Given the description of an element on the screen output the (x, y) to click on. 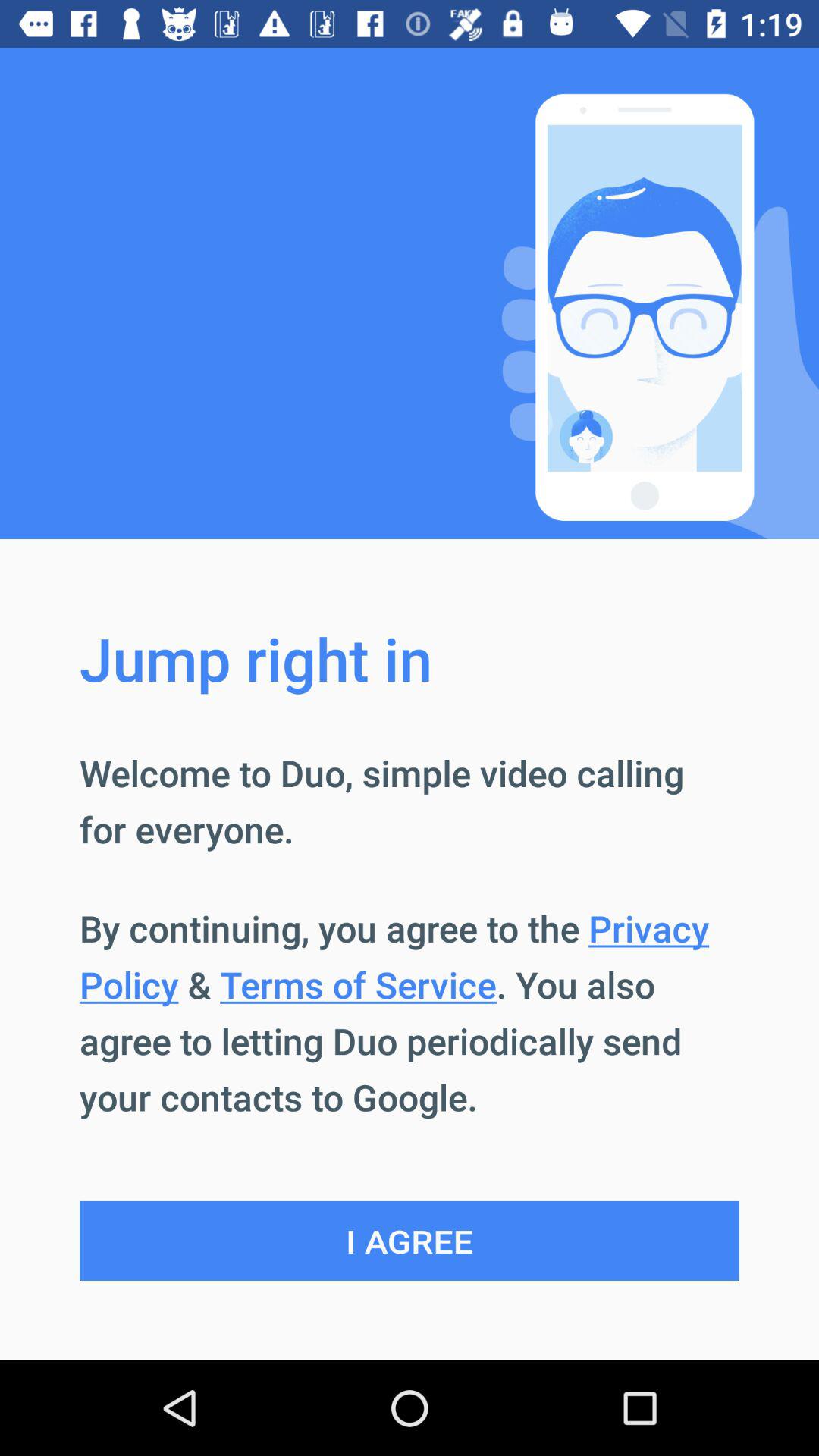
press app below welcome to duo (409, 1012)
